Given the description of an element on the screen output the (x, y) to click on. 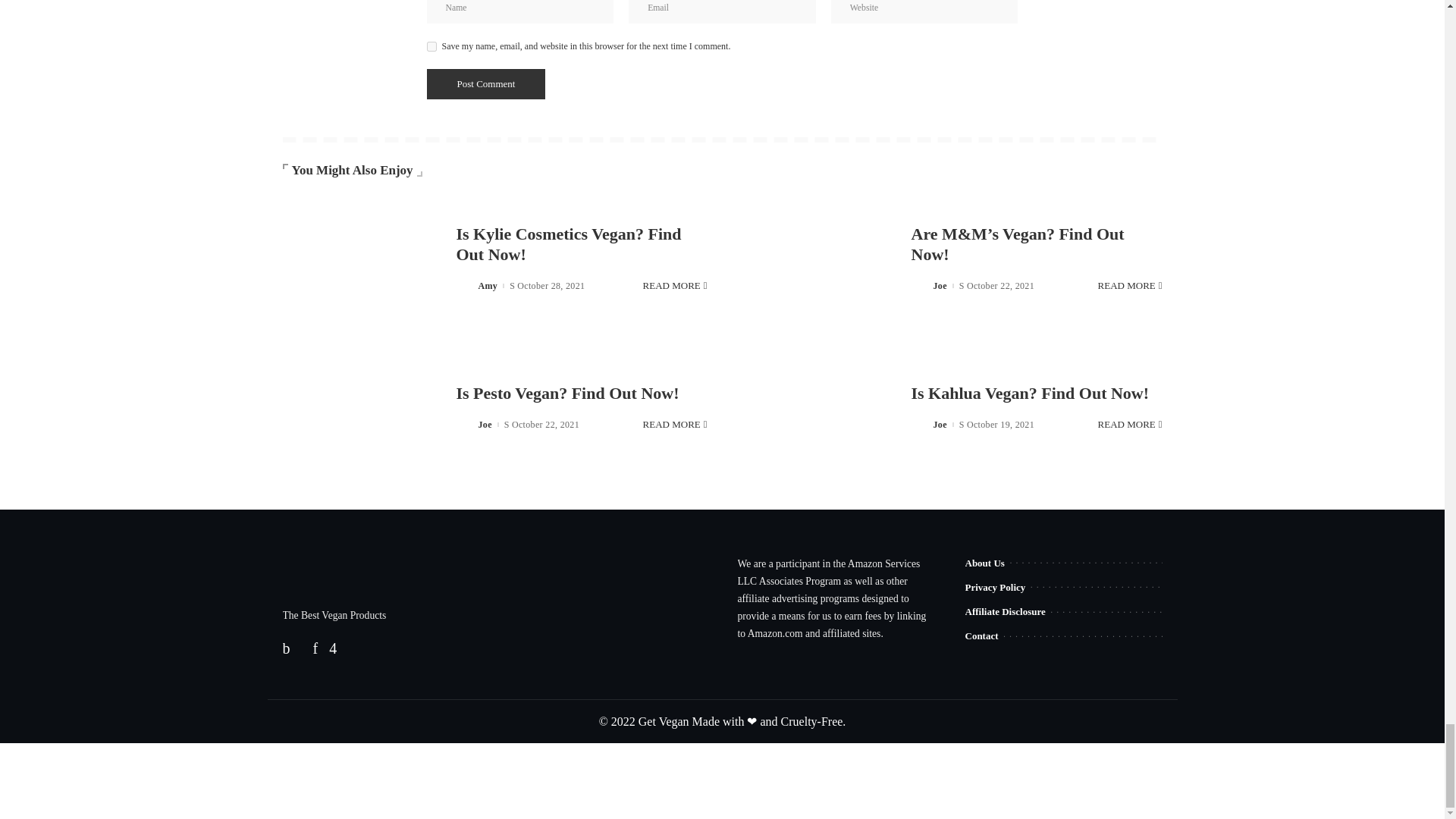
Post Comment (485, 83)
yes (430, 46)
